Given the description of an element on the screen output the (x, y) to click on. 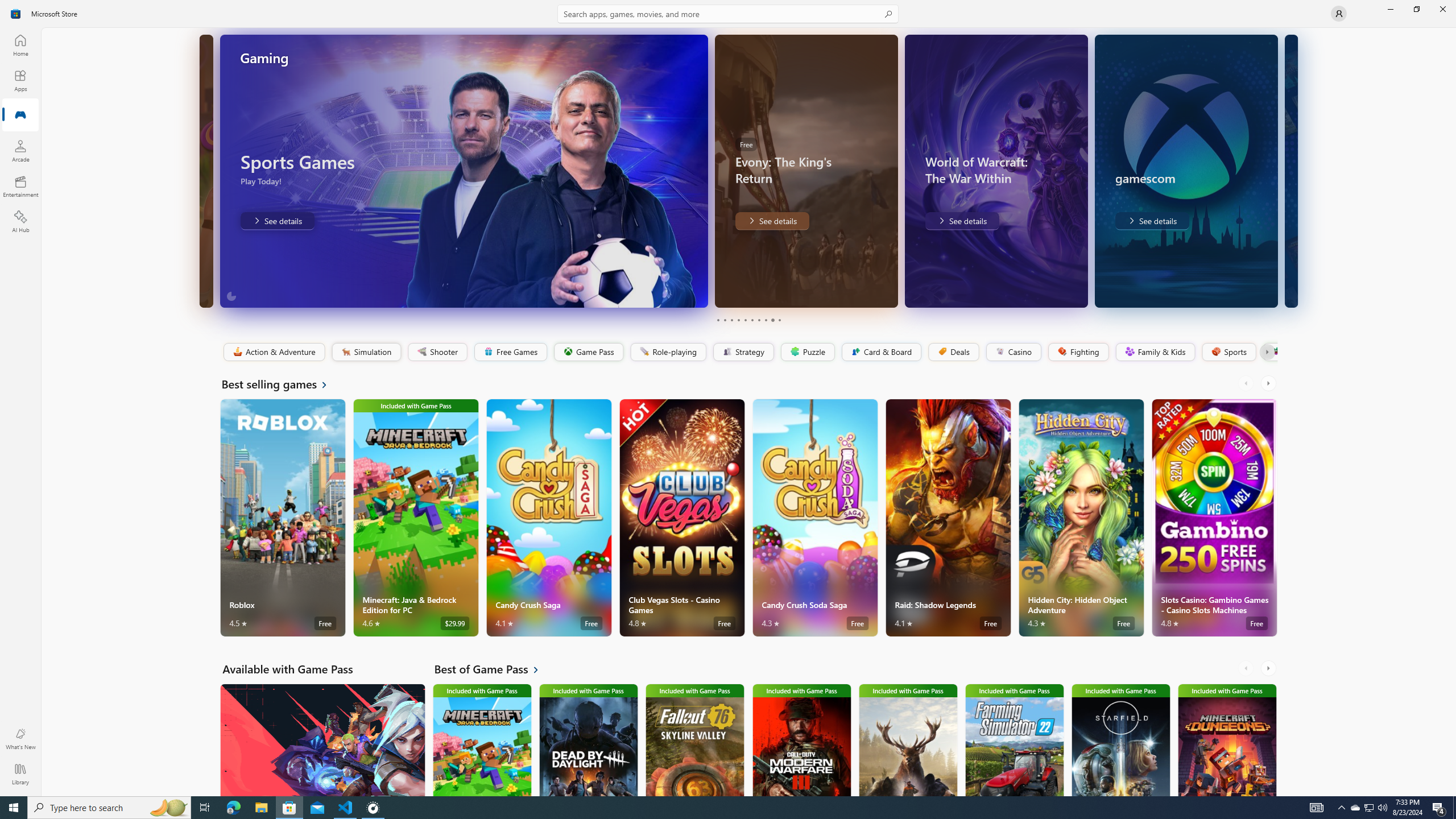
Class: Button (1266, 351)
See all  Best selling games (280, 383)
Gaming (20, 115)
Action & Adventure (273, 352)
AutomationID: NavigationControl (728, 398)
Entertainment (20, 185)
What's New (20, 738)
Page 3 (731, 319)
Casino (1013, 352)
Role-playing (668, 352)
Card & Board (880, 352)
Free Games (509, 352)
AutomationID: RightScrollButton (1269, 668)
